Given the description of an element on the screen output the (x, y) to click on. 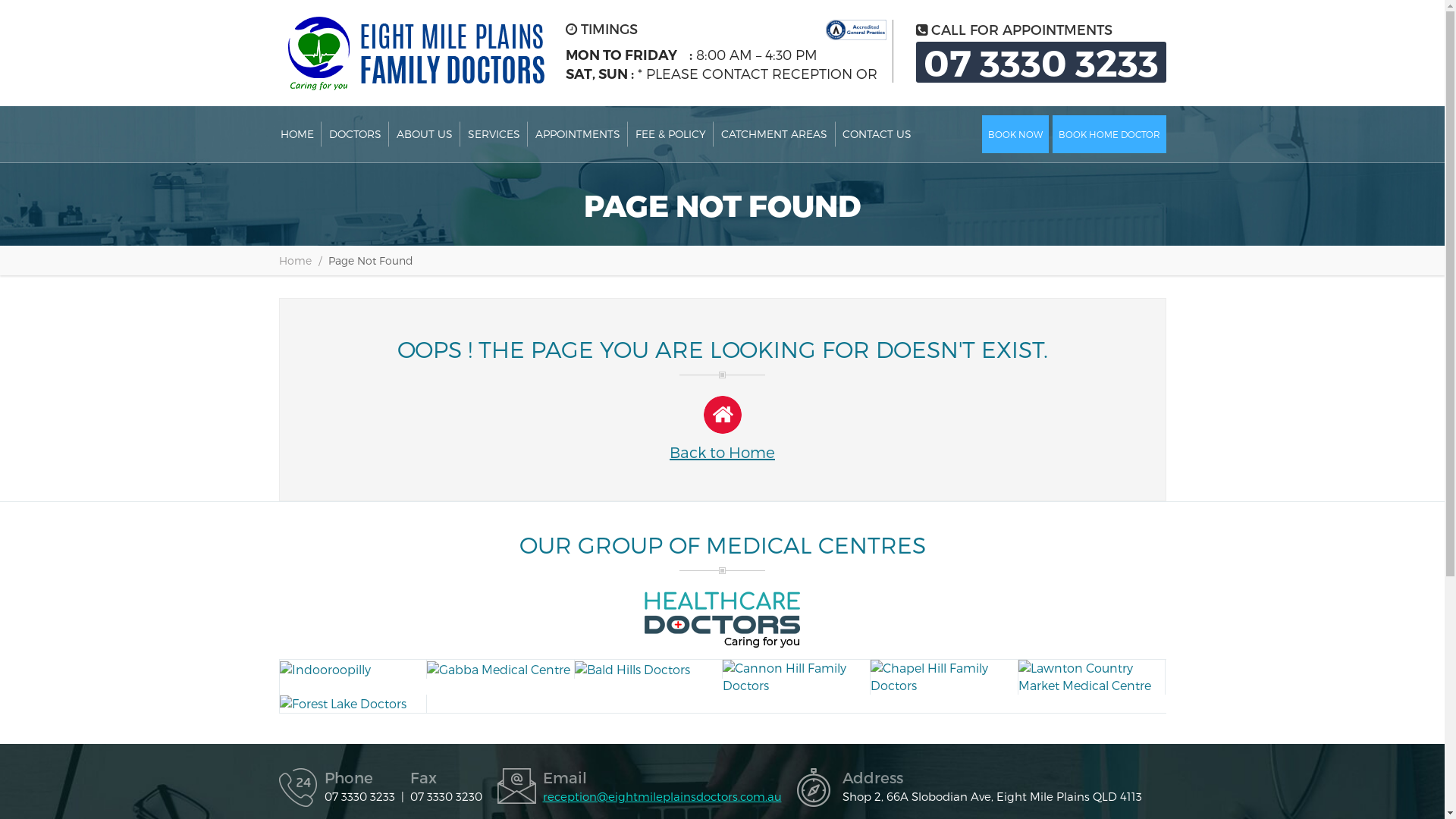
Indooroopilly Element type: hover (352, 668)
DOCTORS Element type: text (354, 134)
HOME Element type: text (297, 134)
Lawnton Country Market Medical Centre Element type: hover (1091, 676)
Bald Hills Doctors Element type: hover (647, 668)
FEE & POLICY Element type: text (670, 134)
Home Element type: text (295, 260)
Gabba Medical Centre Element type: hover (500, 668)
reception@eightmileplainsdoctors.com.au Element type: text (661, 796)
07 3330 3230 Element type: text (445, 796)
07 3330 3233 Element type: text (1041, 61)
APPOINTMENTS Element type: text (577, 134)
Forest Lake Doctors Element type: hover (352, 703)
BOOK HOME DOCTOR Element type: text (1109, 134)
SERVICES Element type: text (492, 134)
Eight Mile Plains Family Doctors Element type: hover (411, 53)
Back to Home Element type: text (721, 428)
CONTACT US Element type: text (876, 134)
Cannon Hill Family Doctors Element type: hover (795, 676)
BOOK NOW Element type: text (1014, 134)
ABOUT US Element type: text (423, 134)
CATCHMENT AREAS Element type: text (773, 134)
Chapel Hill Family Doctors Element type: hover (943, 676)
07 3330 3233  |   Element type: text (367, 796)
